Given the description of an element on the screen output the (x, y) to click on. 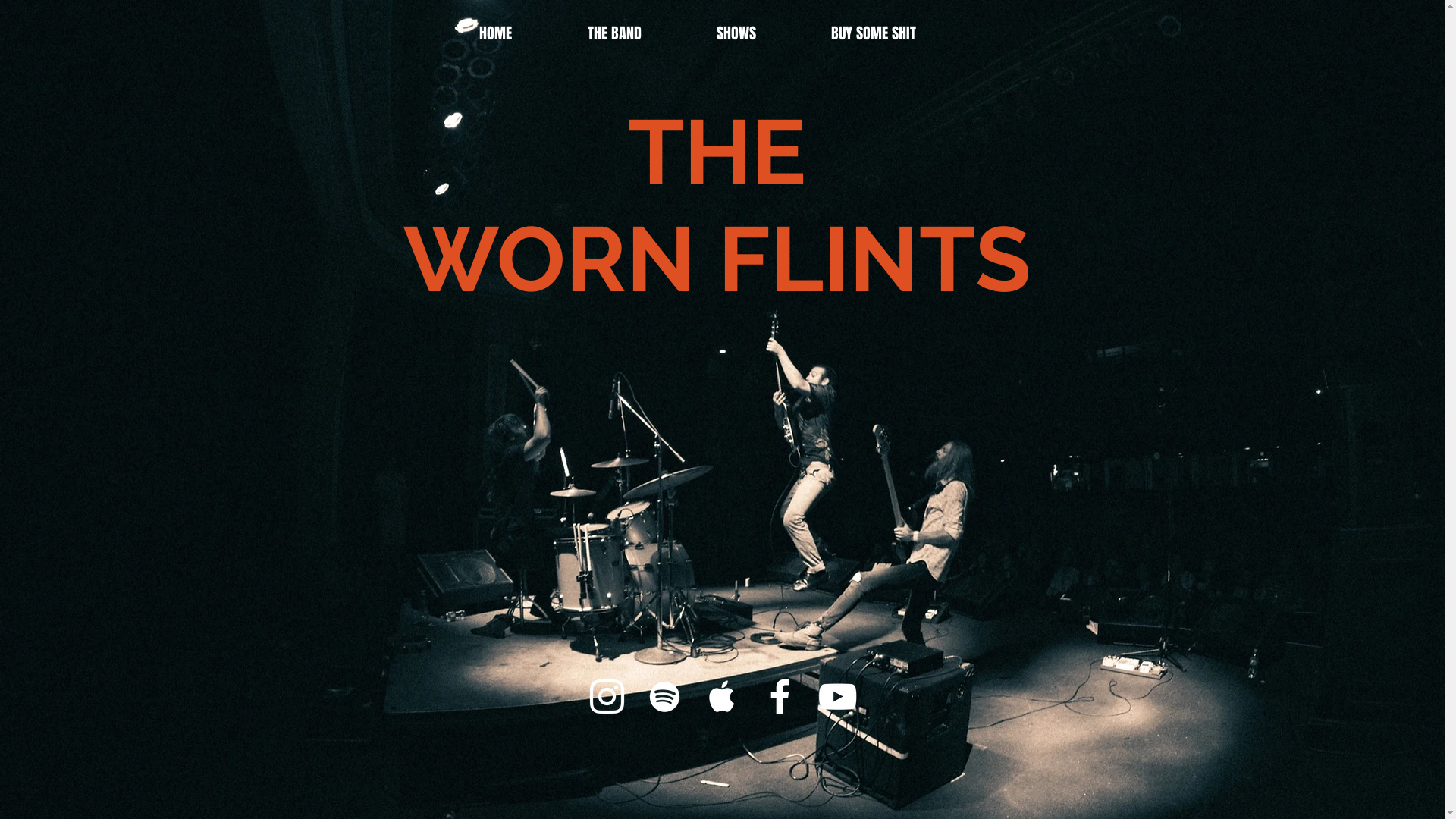
THE BAND Element type: text (640, 29)
HOME Element type: text (521, 29)
BUY SOME SHIT Element type: text (899, 29)
SHOWS Element type: text (762, 29)
WORN FLINTS Element type: text (717, 258)
THE Element type: text (716, 151)
